Given the description of an element on the screen output the (x, y) to click on. 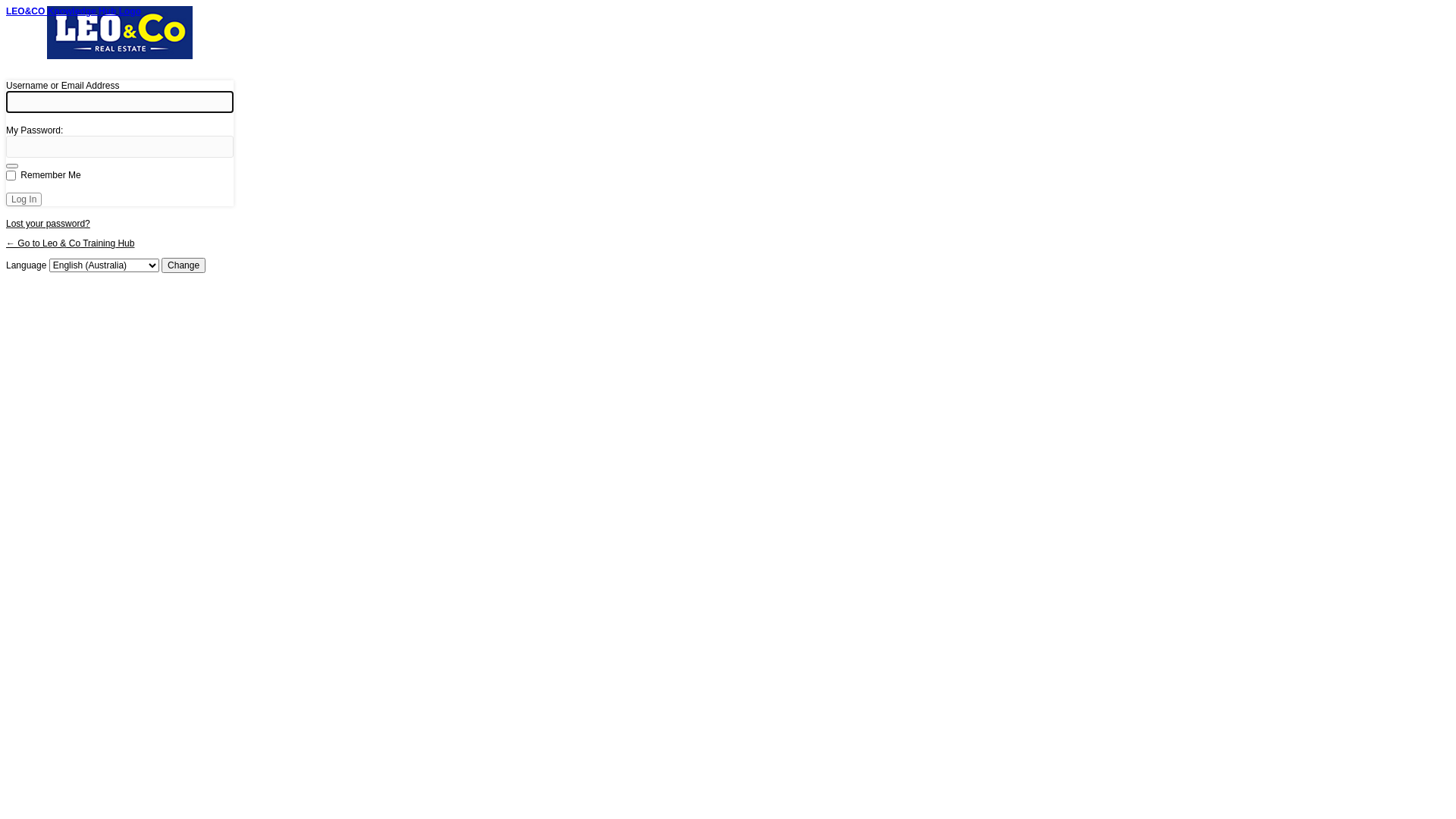
Lost your password? Element type: text (48, 223)
LEO&CO Knowledge Hub Logo Element type: text (119, 40)
Change Element type: text (183, 265)
Log In Element type: text (23, 199)
